Given the description of an element on the screen output the (x, y) to click on. 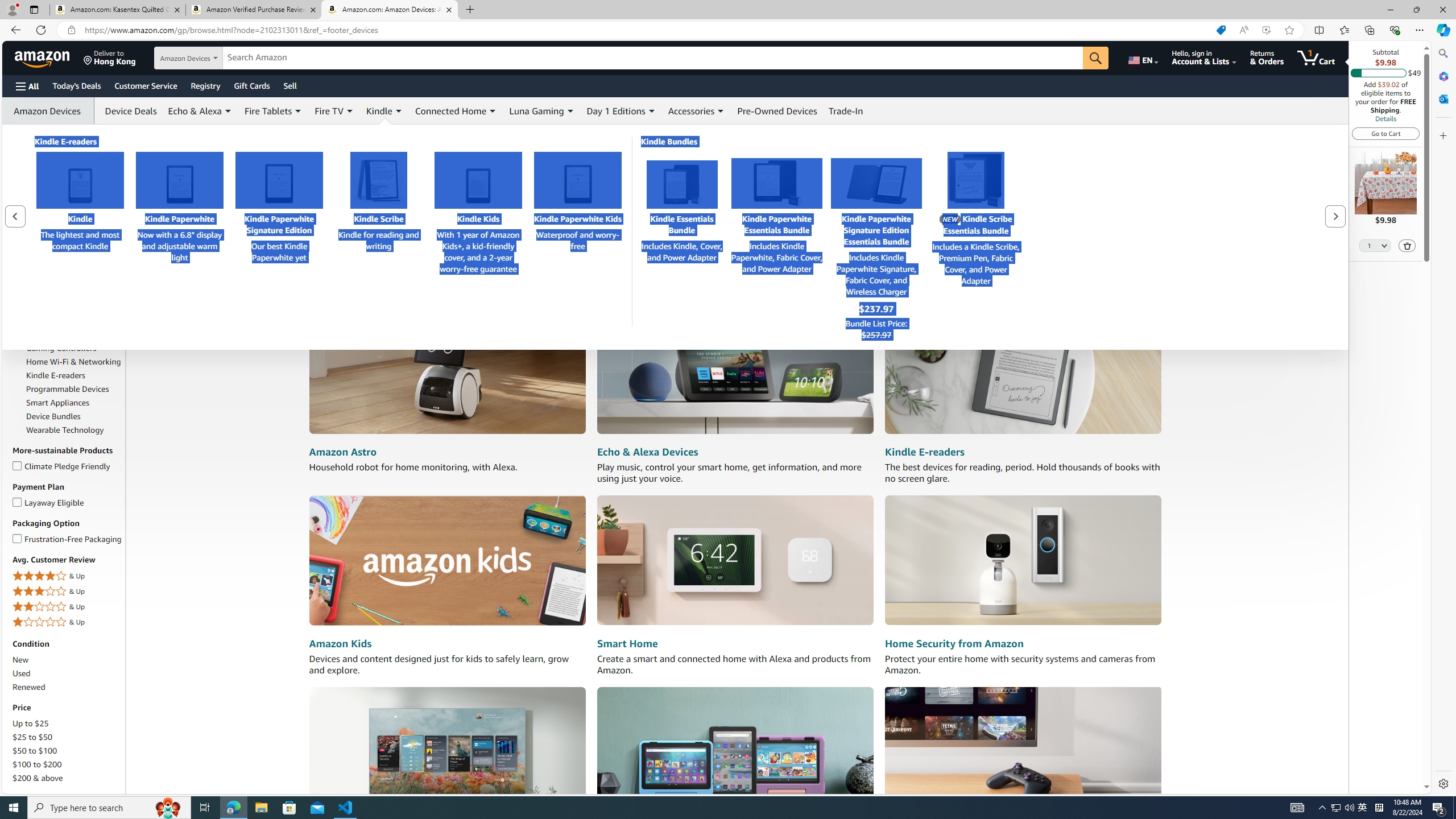
Expand Day 1 Editions (651, 111)
Fire TV (74, 320)
Climate Pledge FriendlyClimate Pledge Friendly (67, 465)
Renewed (29, 687)
Skip to main content (48, 56)
Pause (349, 265)
Fire TV devices (447, 751)
Device Bundles (74, 415)
Kindle E-readers (74, 374)
